Given the description of an element on the screen output the (x, y) to click on. 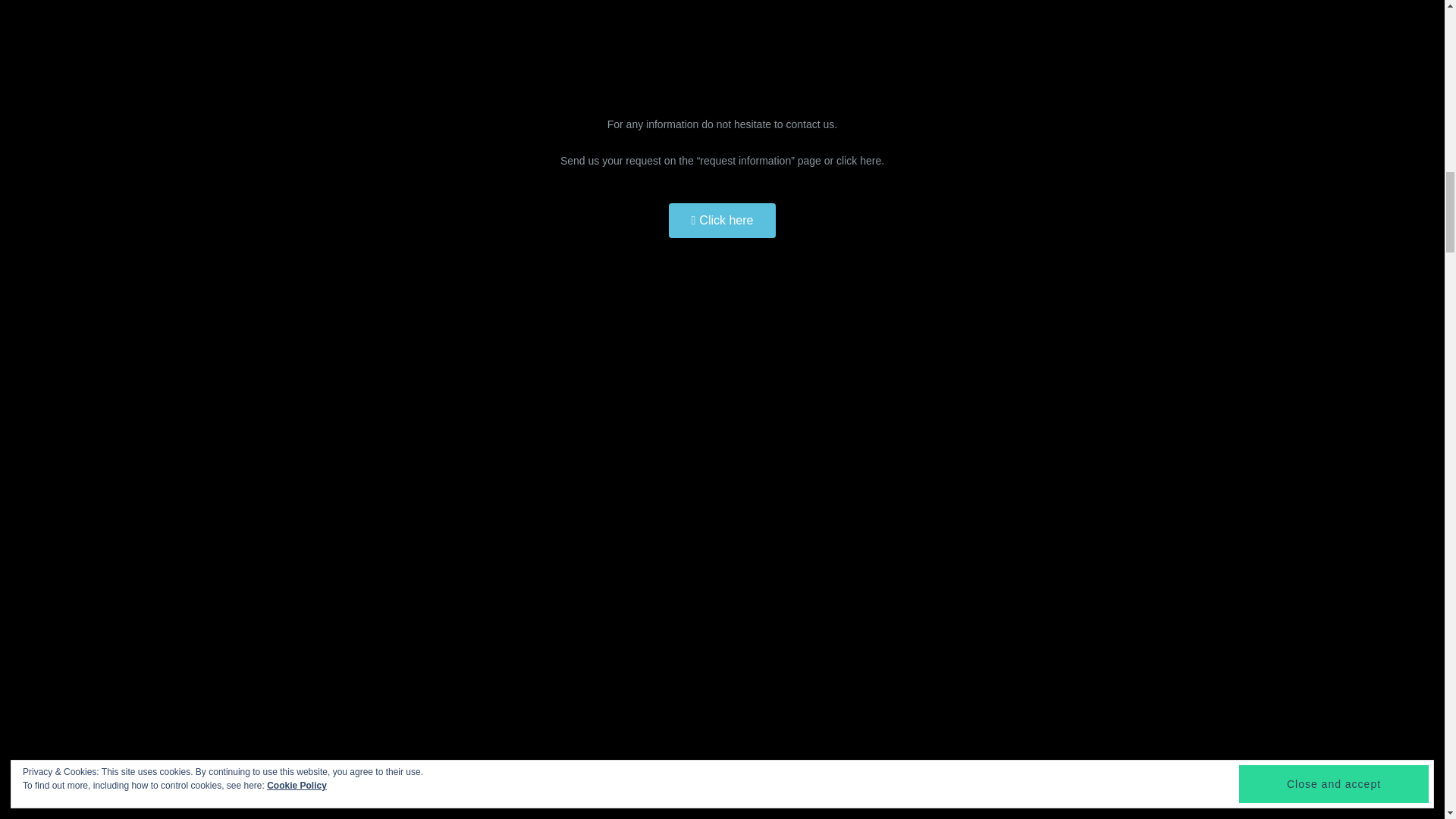
Click here (722, 220)
